Given the description of an element on the screen output the (x, y) to click on. 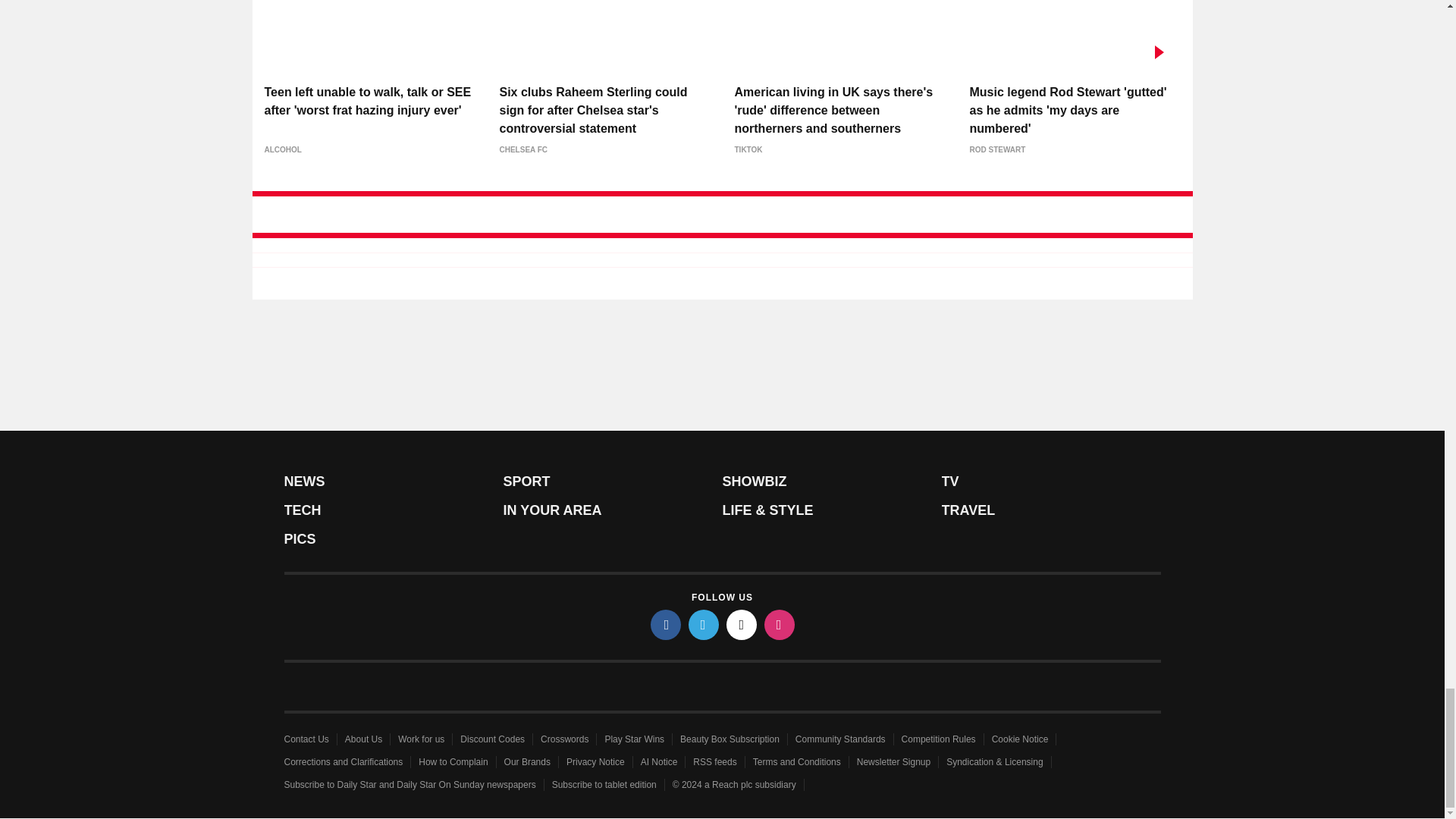
tiktok (741, 624)
twitter (703, 624)
facebook (665, 624)
instagram (779, 624)
